Given the description of an element on the screen output the (x, y) to click on. 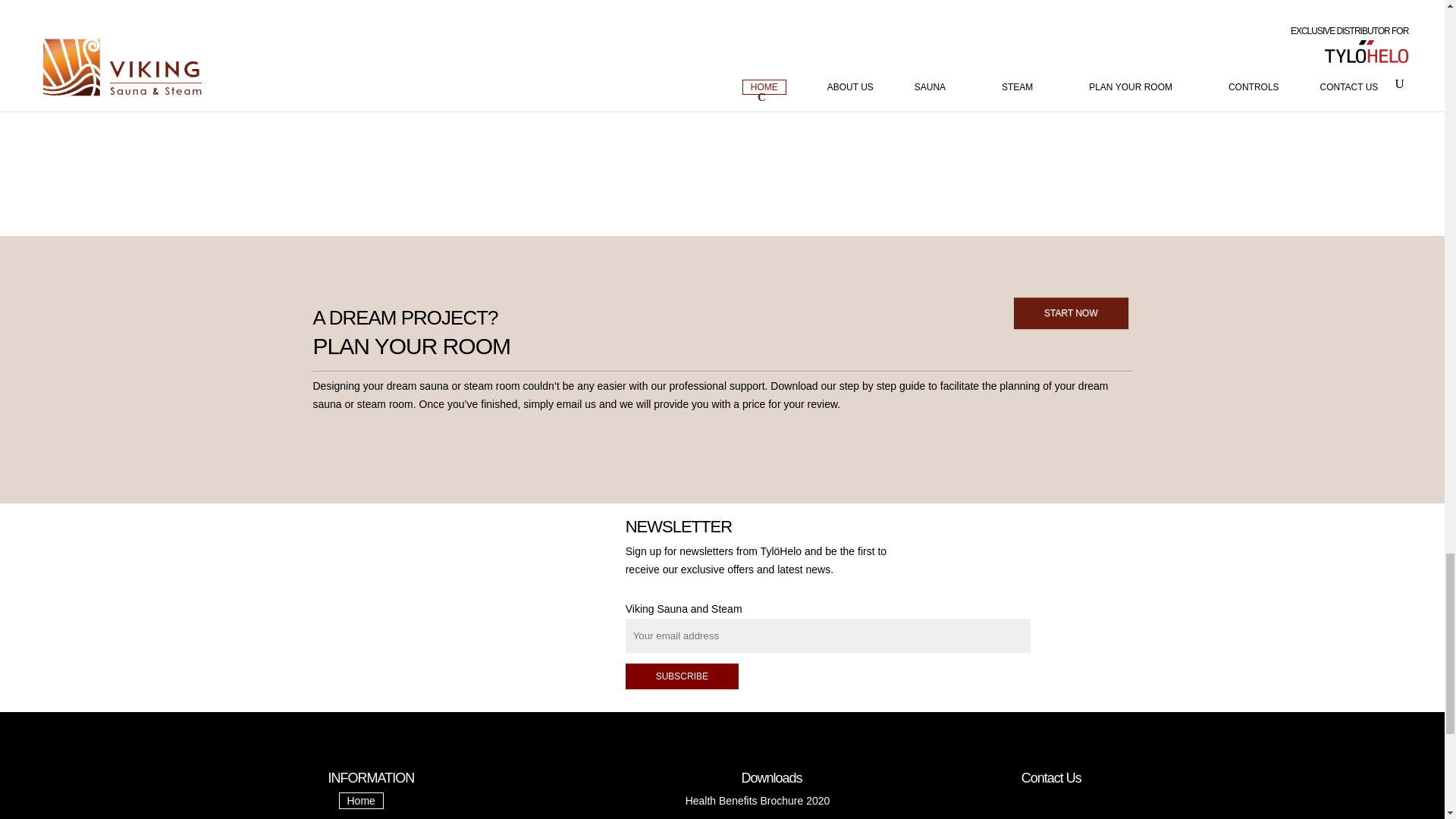
SUBSCRIBE (682, 676)
START NOW (1070, 313)
SUBSCRIBE (682, 676)
